Given the description of an element on the screen output the (x, y) to click on. 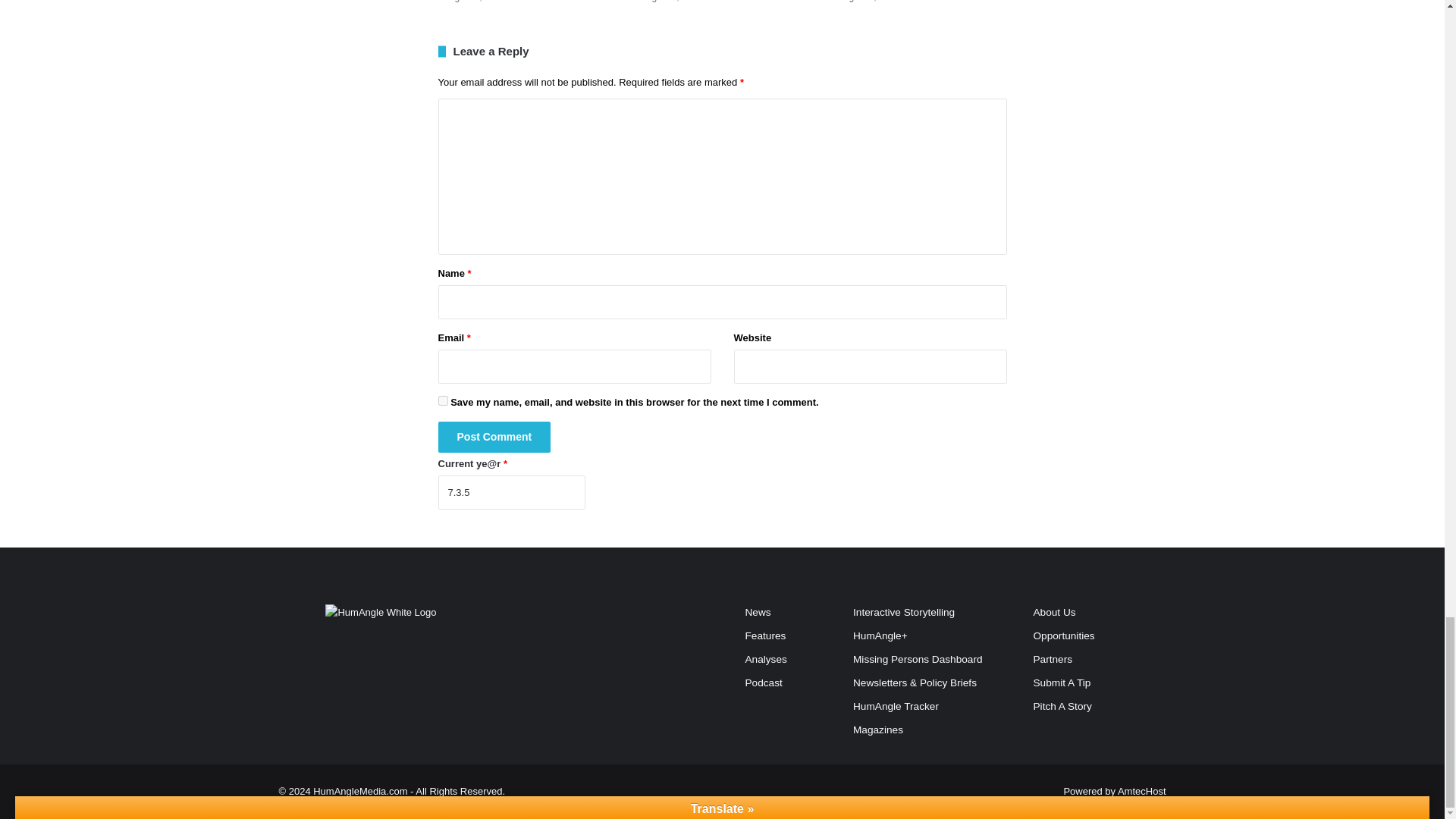
7.3.5 (511, 492)
yes (443, 400)
Post Comment (494, 436)
